Given the description of an element on the screen output the (x, y) to click on. 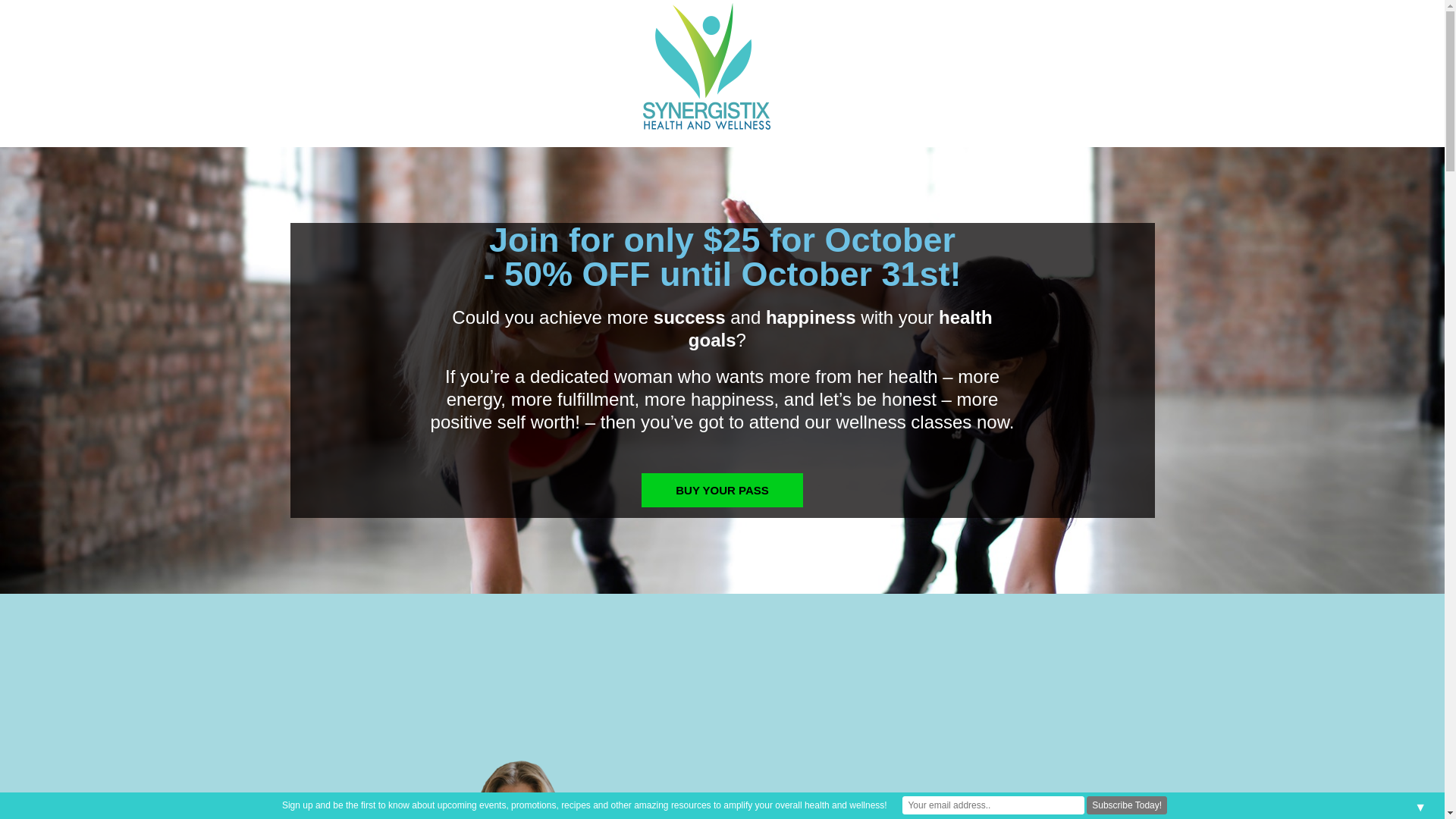
BUY YOUR PASS (722, 489)
Subscribe Today! (1126, 805)
Subscribe Today! (1126, 805)
